Given the description of an element on the screen output the (x, y) to click on. 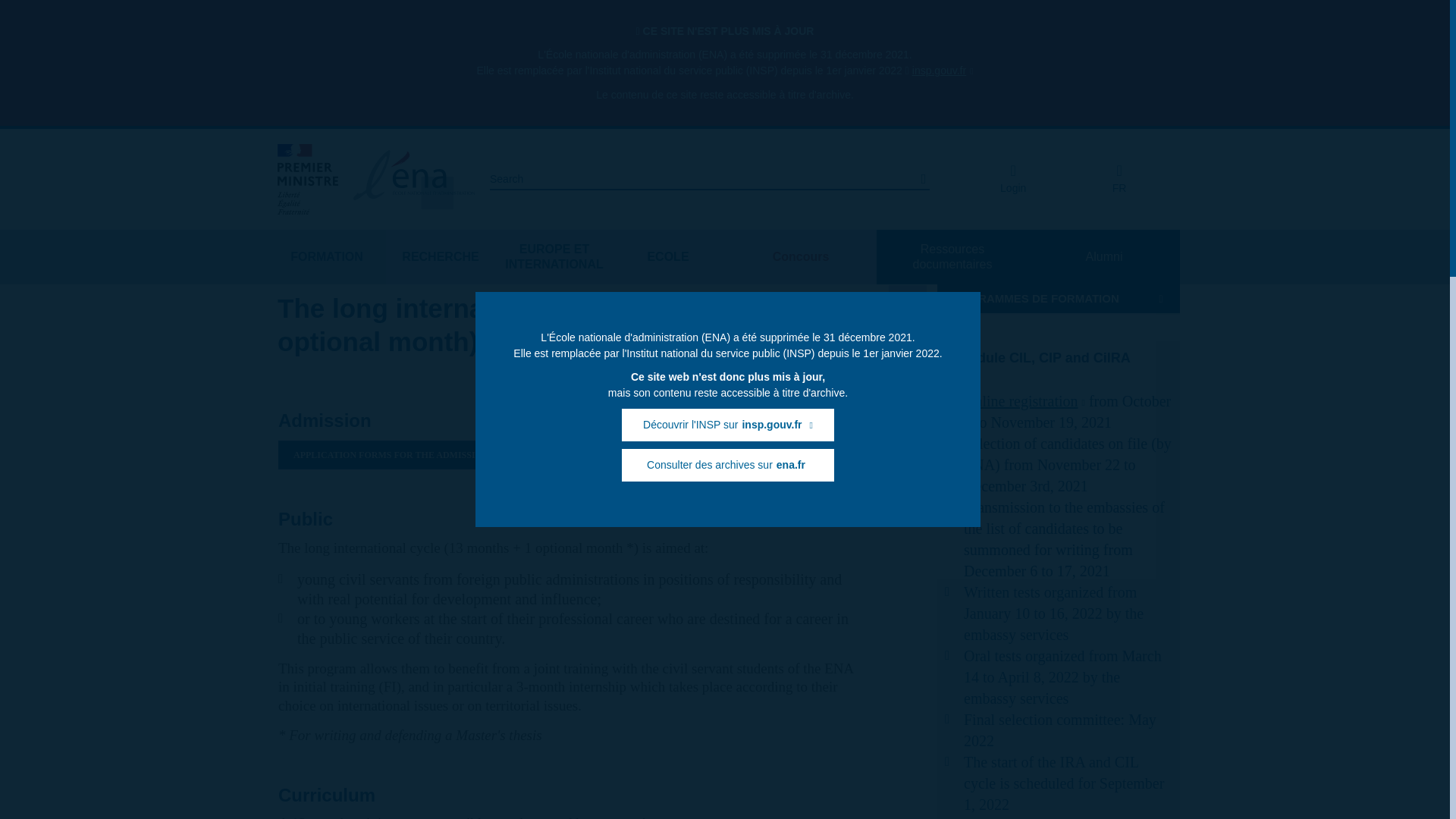
Back to french home (1118, 179)
Go to content (315, 149)
FR (1118, 179)
Go to content (315, 149)
Go to menu (310, 149)
Go to menu (310, 149)
Access to login page (1012, 179)
insp.gouv.fr (943, 70)
Back to home (413, 179)
Login (1012, 179)
